Given the description of an element on the screen output the (x, y) to click on. 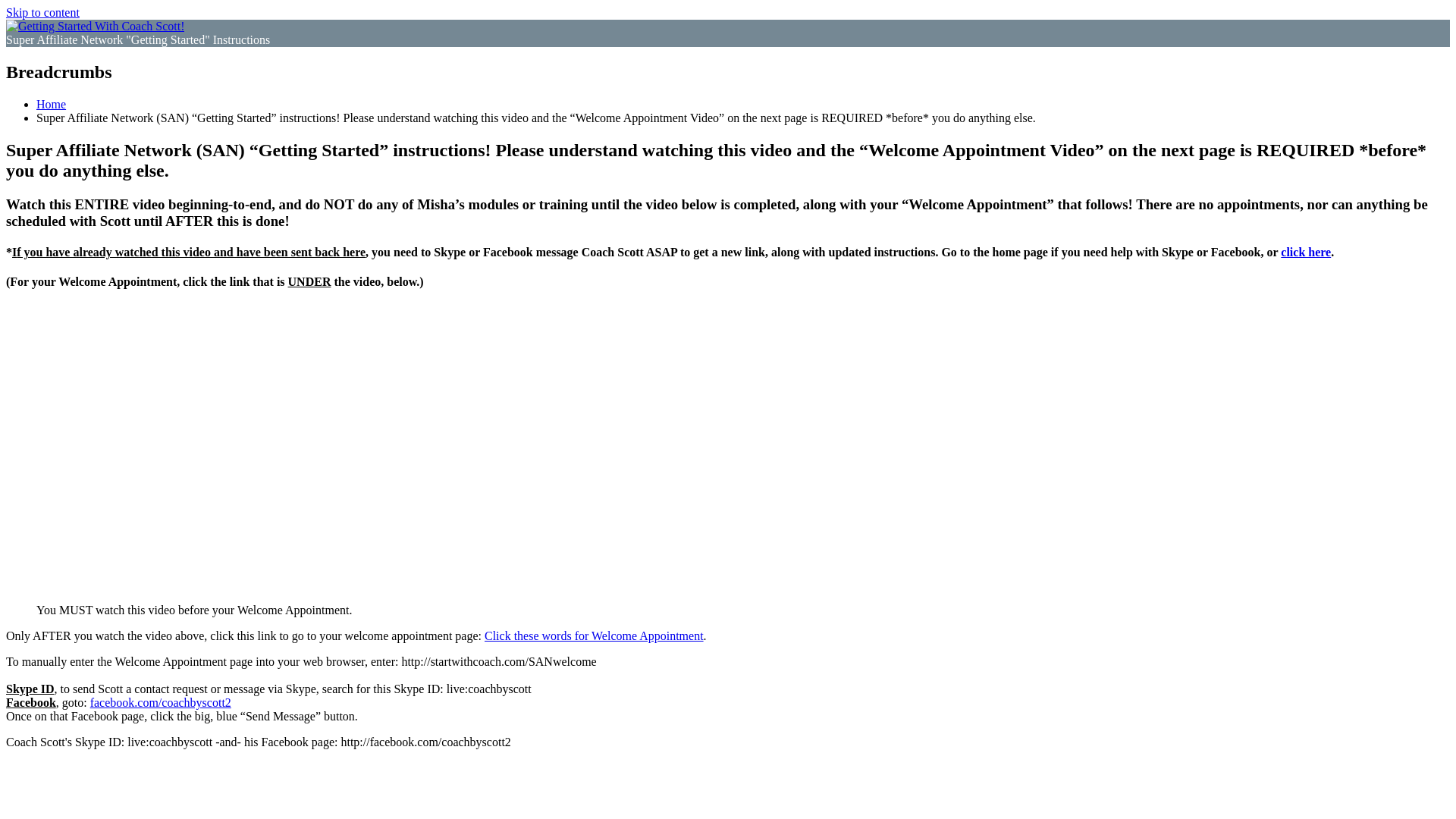
Click these words for Welcome Appointment (593, 635)
Home (50, 103)
Skip to content (42, 11)
click here (1305, 251)
